Given the description of an element on the screen output the (x, y) to click on. 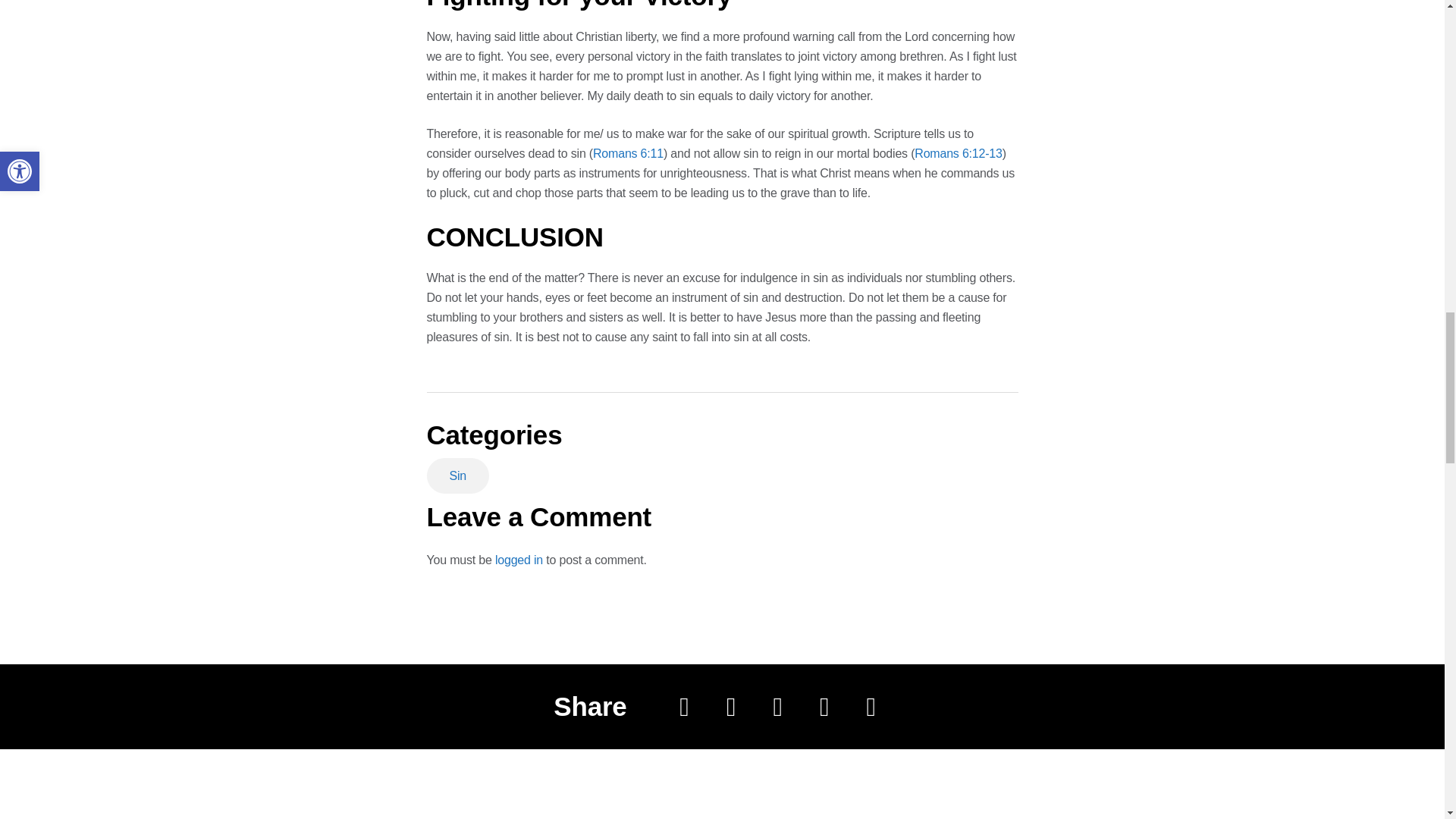
Romans 6:11 (627, 153)
logged in (519, 559)
MORE ARTICLES (349, 817)
Sin (457, 475)
Romans 6:12-13 (958, 153)
